Given the description of an element on the screen output the (x, y) to click on. 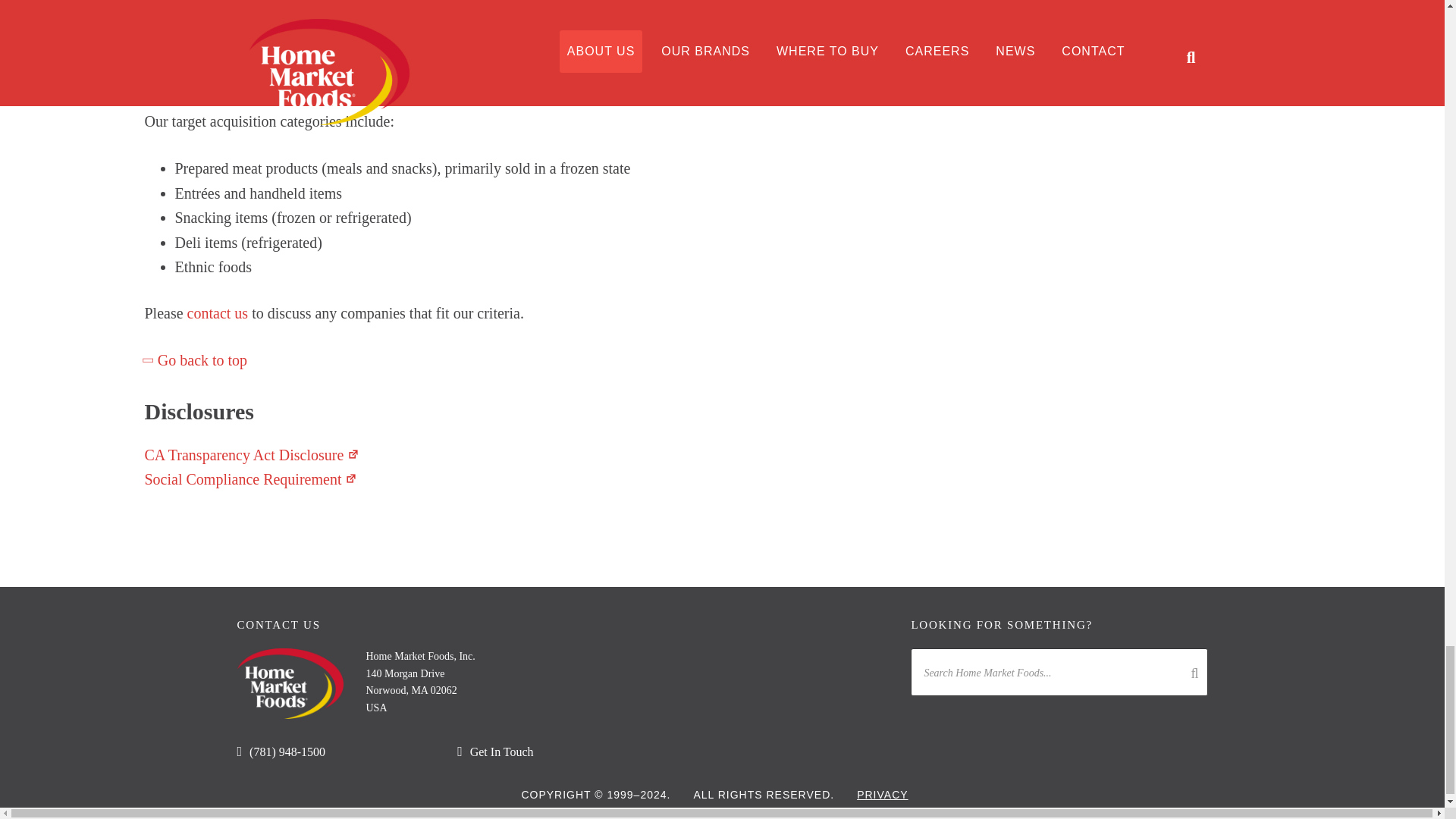
hmf-logo-1200-2 (288, 683)
contact us (217, 312)
